Given the description of an element on the screen output the (x, y) to click on. 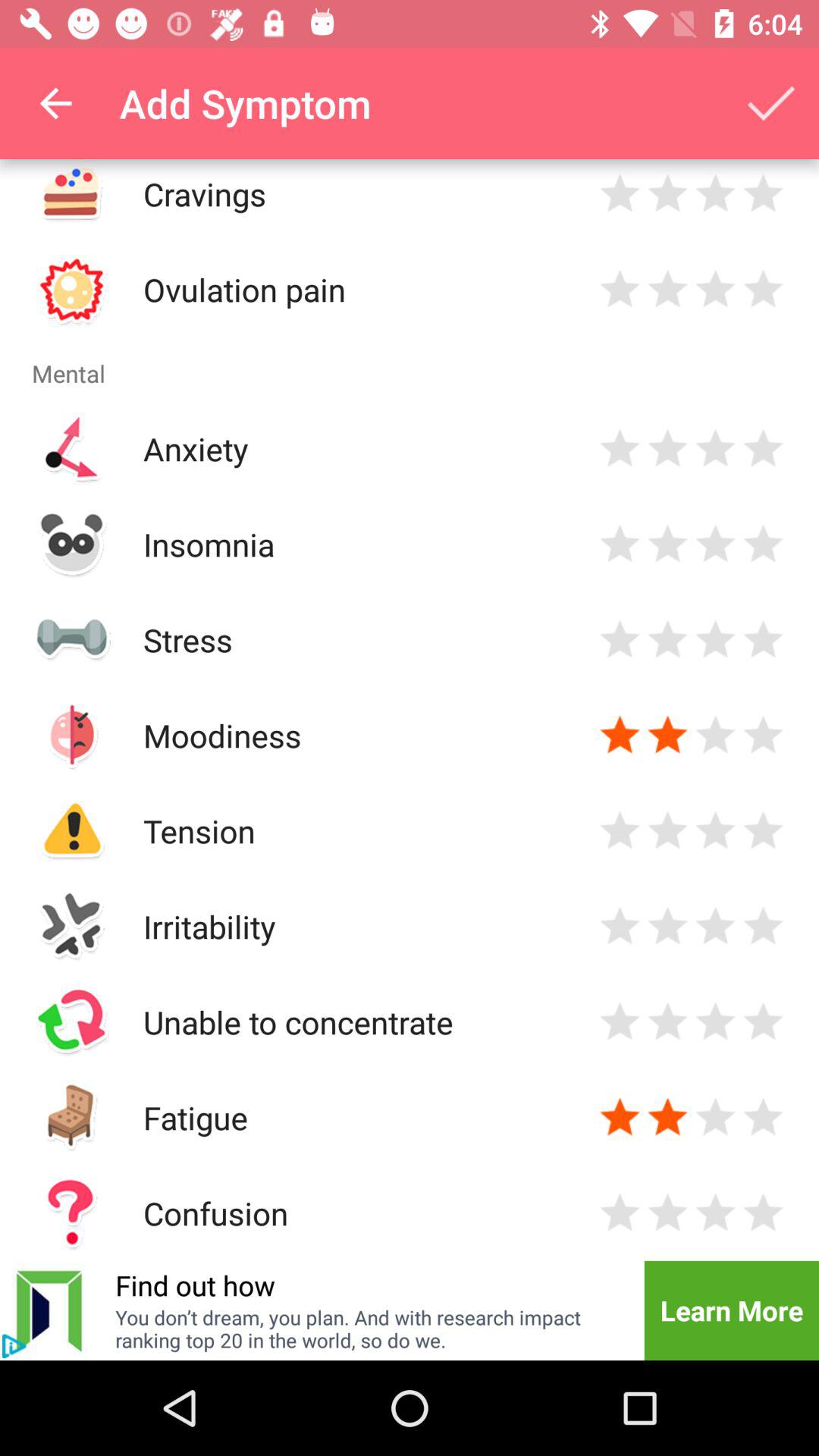
two stars (667, 289)
